Given the description of an element on the screen output the (x, y) to click on. 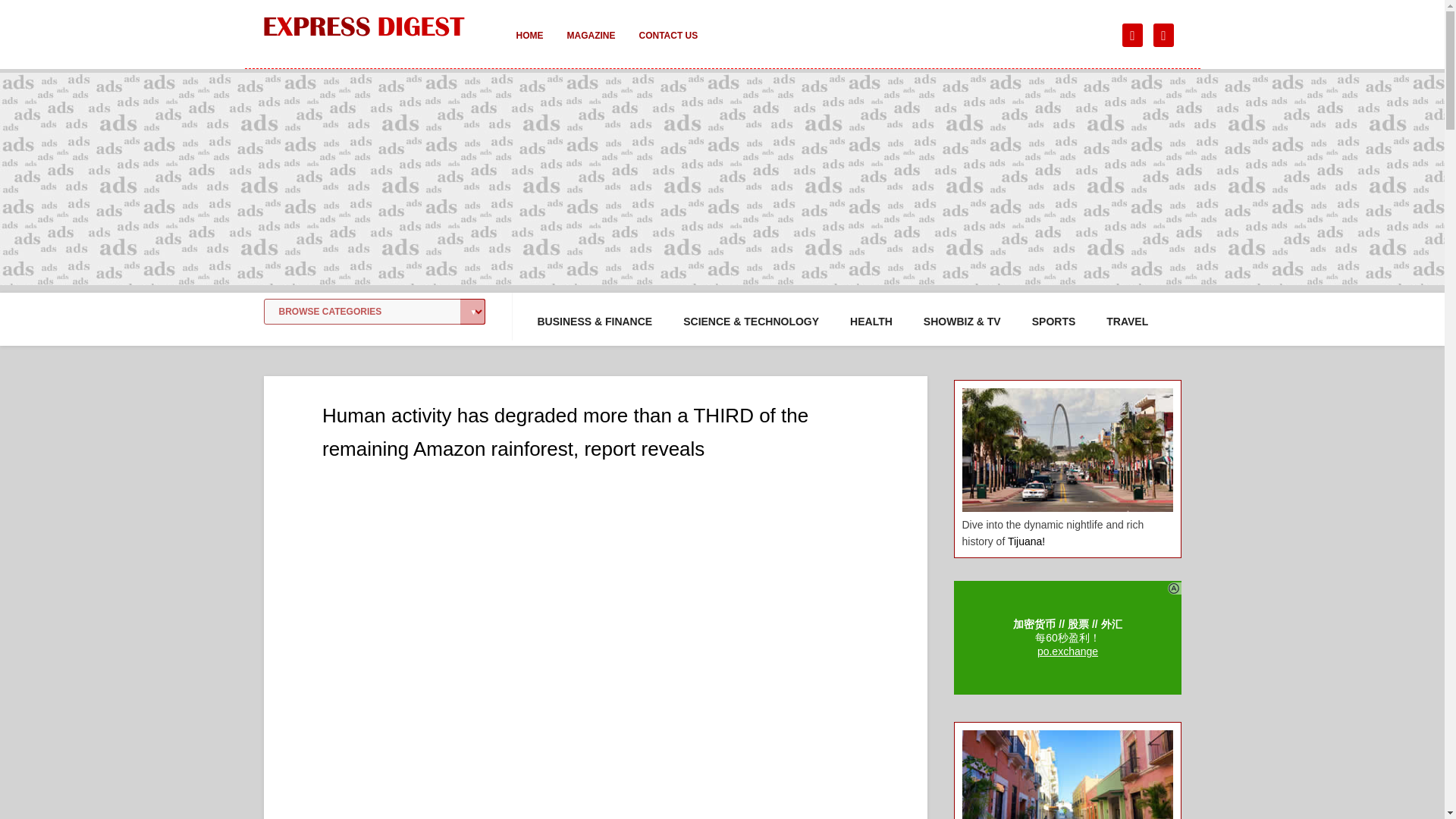
TRAVEL (1127, 321)
SPORTS (1053, 321)
Tijuana! (1026, 541)
HEALTH (871, 321)
MAGAZINE (590, 45)
CONTACT US (667, 45)
